Given the description of an element on the screen output the (x, y) to click on. 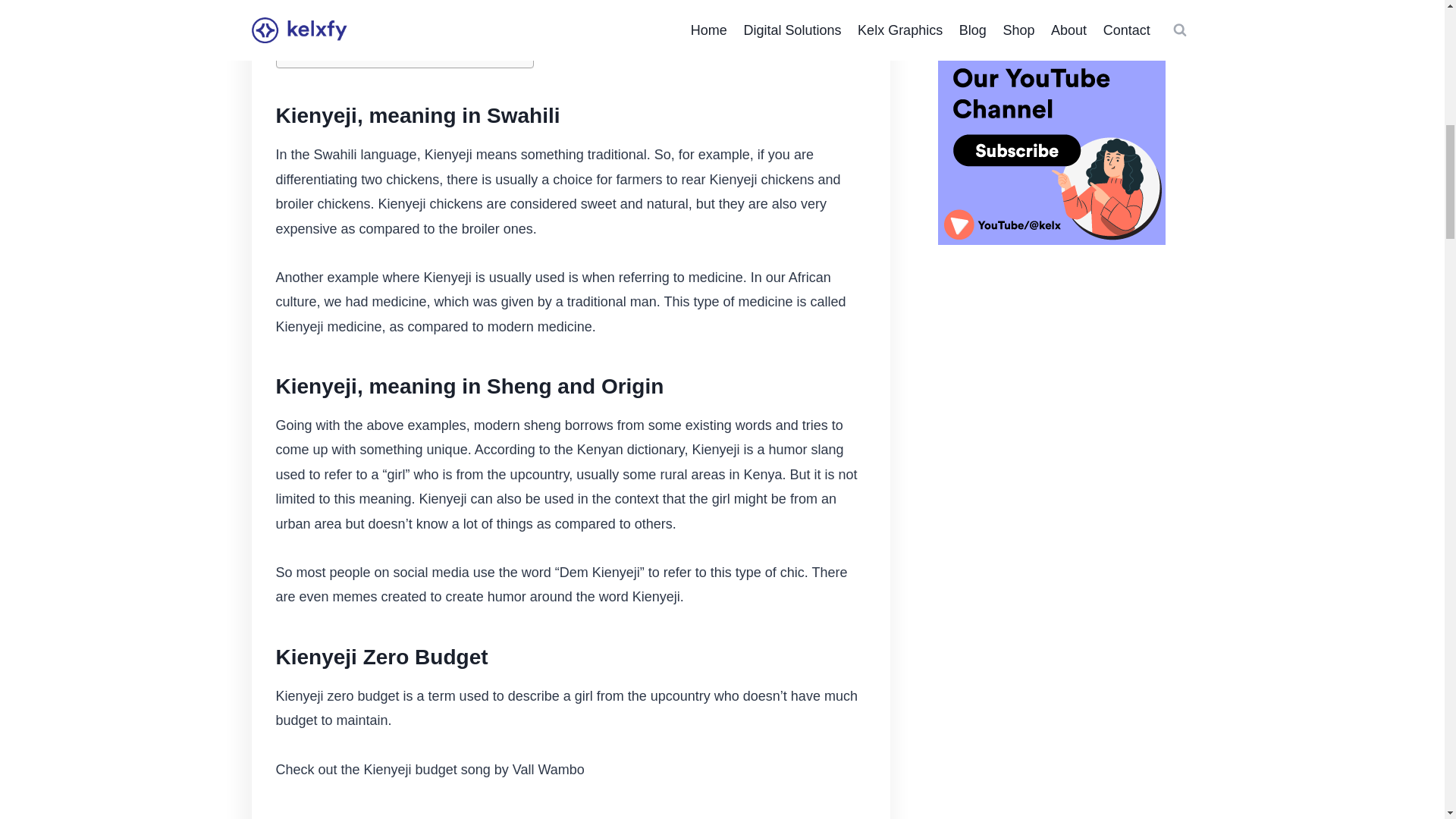
Kienyeji Zero Budget (349, 10)
Kienyeji Pro Max (338, 30)
Kienyeji Pro Max (338, 30)
Origin (329, 50)
Kienyeji Zero Budget (349, 10)
Origin (329, 50)
